Given the description of an element on the screen output the (x, y) to click on. 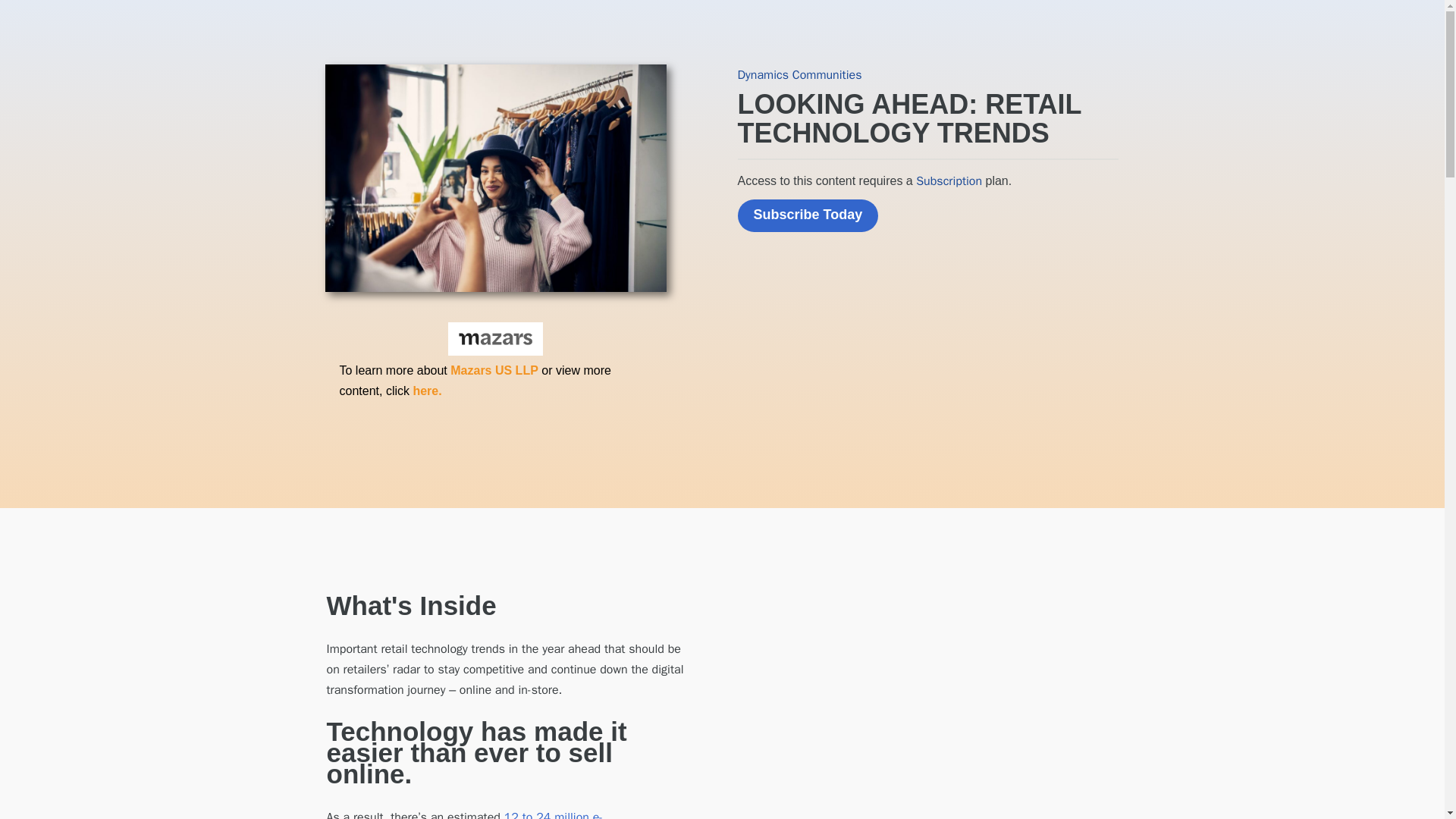
12 to 24 million e-commerce (464, 814)
here. (426, 390)
Mazars US LLP (493, 369)
Subscribe Today (806, 215)
